Given the description of an element on the screen output the (x, y) to click on. 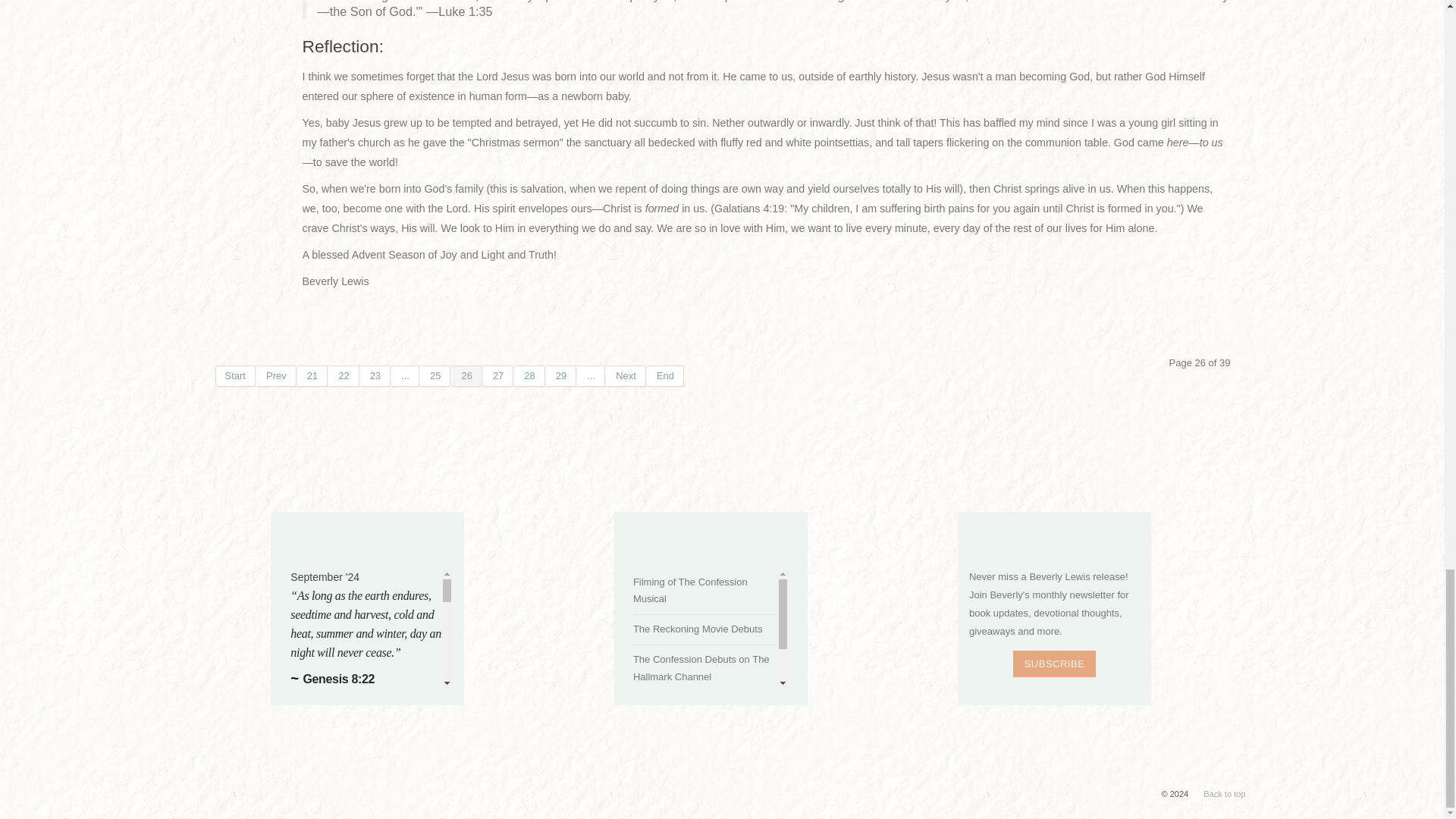
22 (343, 375)
Prev (277, 375)
... (405, 375)
... (591, 375)
27 (498, 375)
End (665, 375)
29 (561, 375)
24 (405, 375)
21 (312, 375)
30 (591, 375)
